Given the description of an element on the screen output the (x, y) to click on. 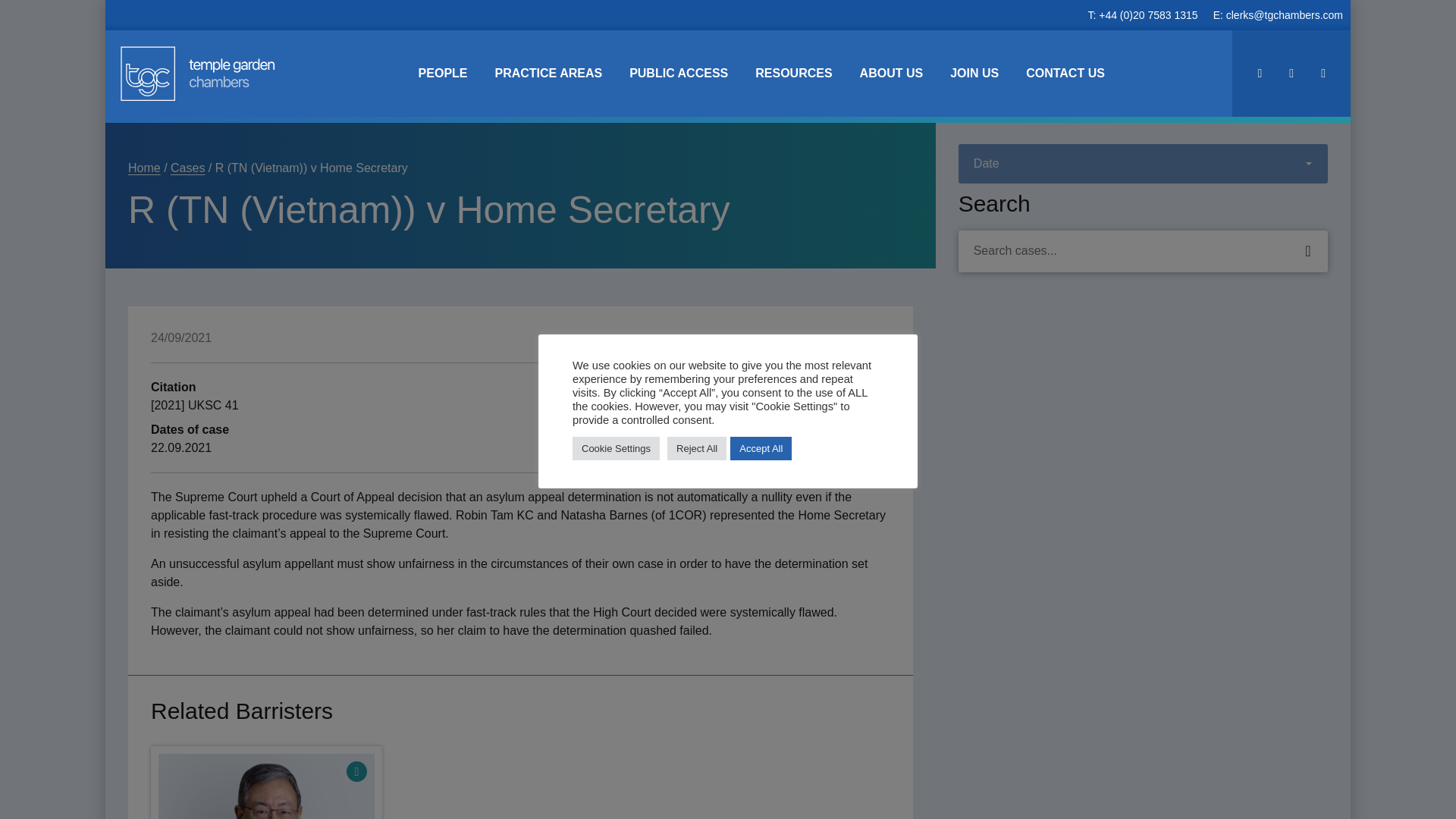
PRACTICE AREAS (547, 73)
JOIN US (973, 73)
RESOURCES (793, 73)
CONTACT US (1064, 73)
PEOPLE (442, 73)
PUBLIC ACCESS (678, 73)
Portfolio (356, 771)
ABOUT US (891, 73)
